Given the description of an element on the screen output the (x, y) to click on. 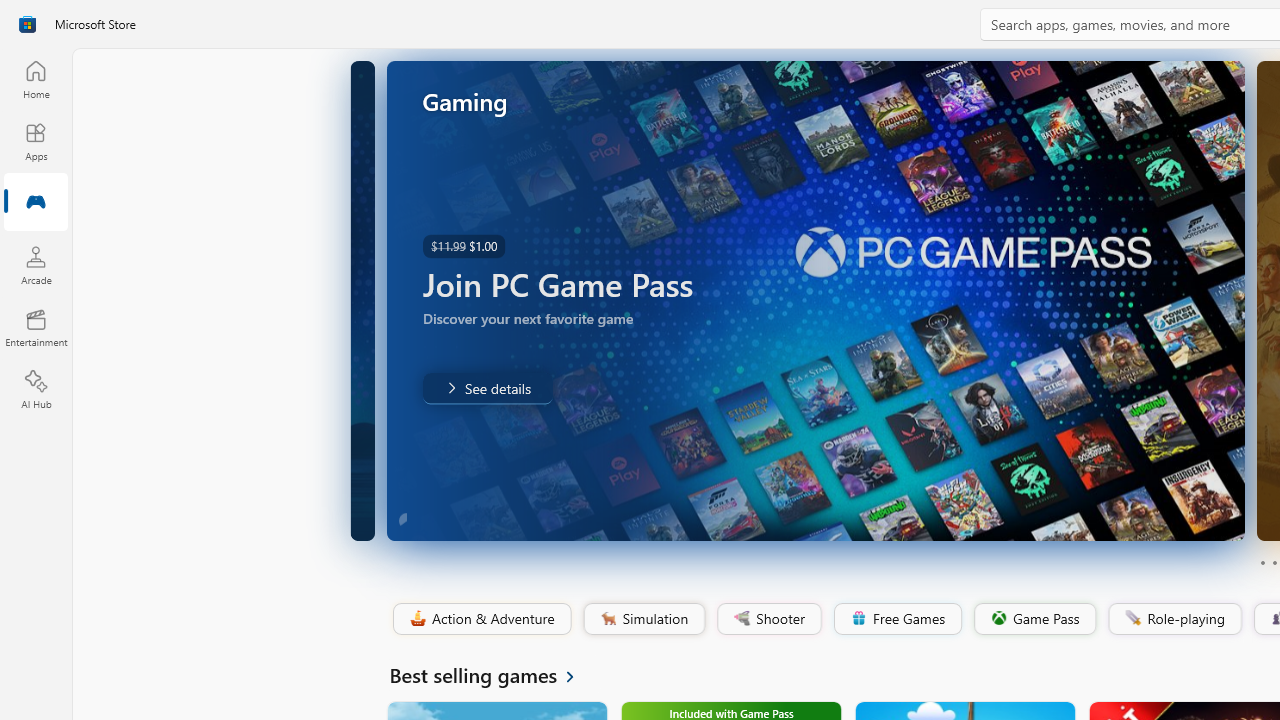
Game Pass (1033, 619)
Free Games (897, 619)
Simulation (643, 619)
Action & Adventure (480, 619)
AutomationID: Image (815, 300)
Role-playing (1174, 619)
Page 1 (1261, 562)
Page 2 (1274, 562)
See all  Best selling games (493, 674)
